Given the description of an element on the screen output the (x, y) to click on. 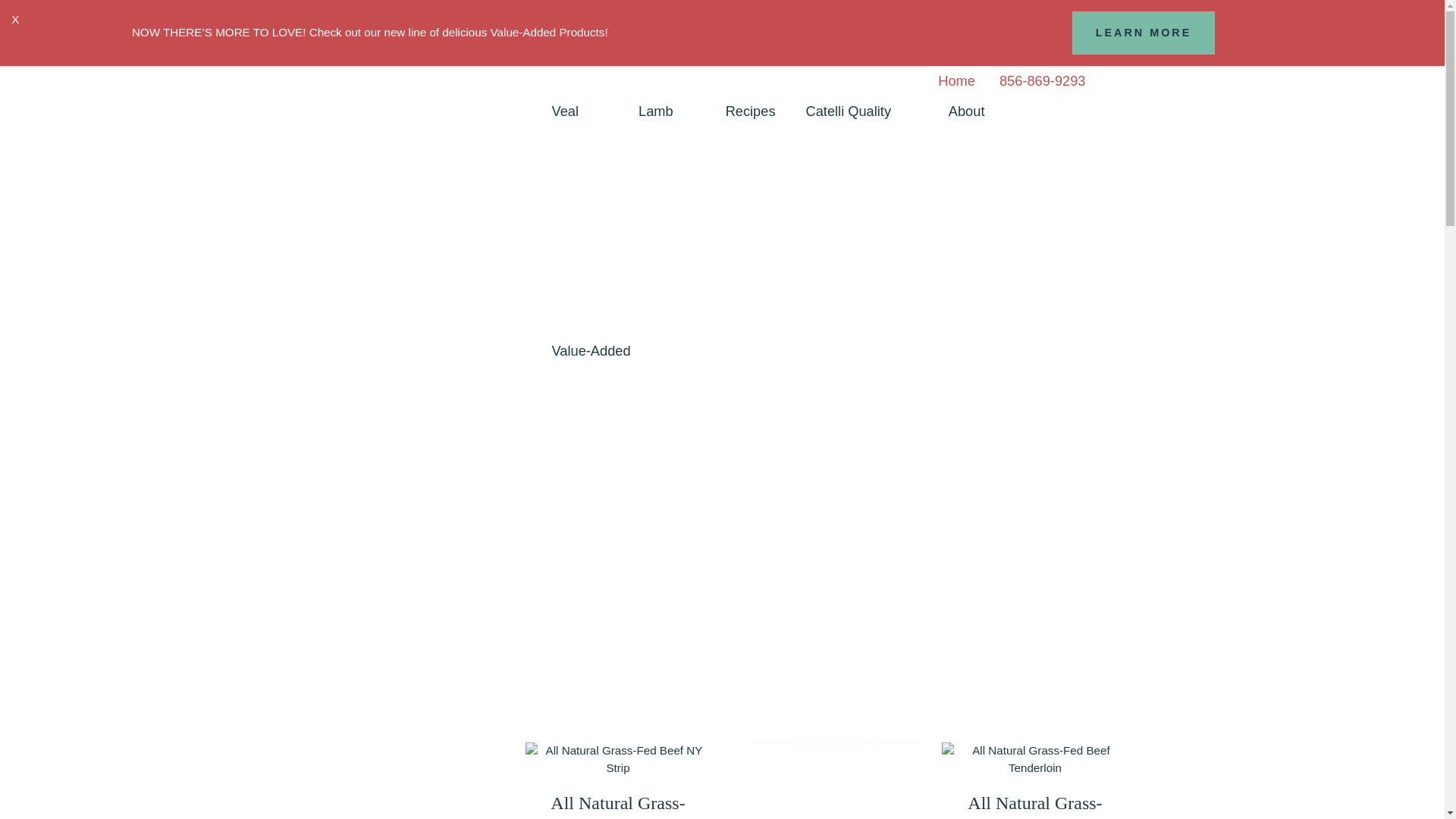
Catelli Quality (861, 111)
Recipes (750, 111)
Home (956, 76)
Value-Added (591, 350)
About (1006, 111)
856-869-9293 (1042, 76)
LEARN MORE (1143, 32)
Veal (580, 111)
Lamb (666, 111)
